Given the description of an element on the screen output the (x, y) to click on. 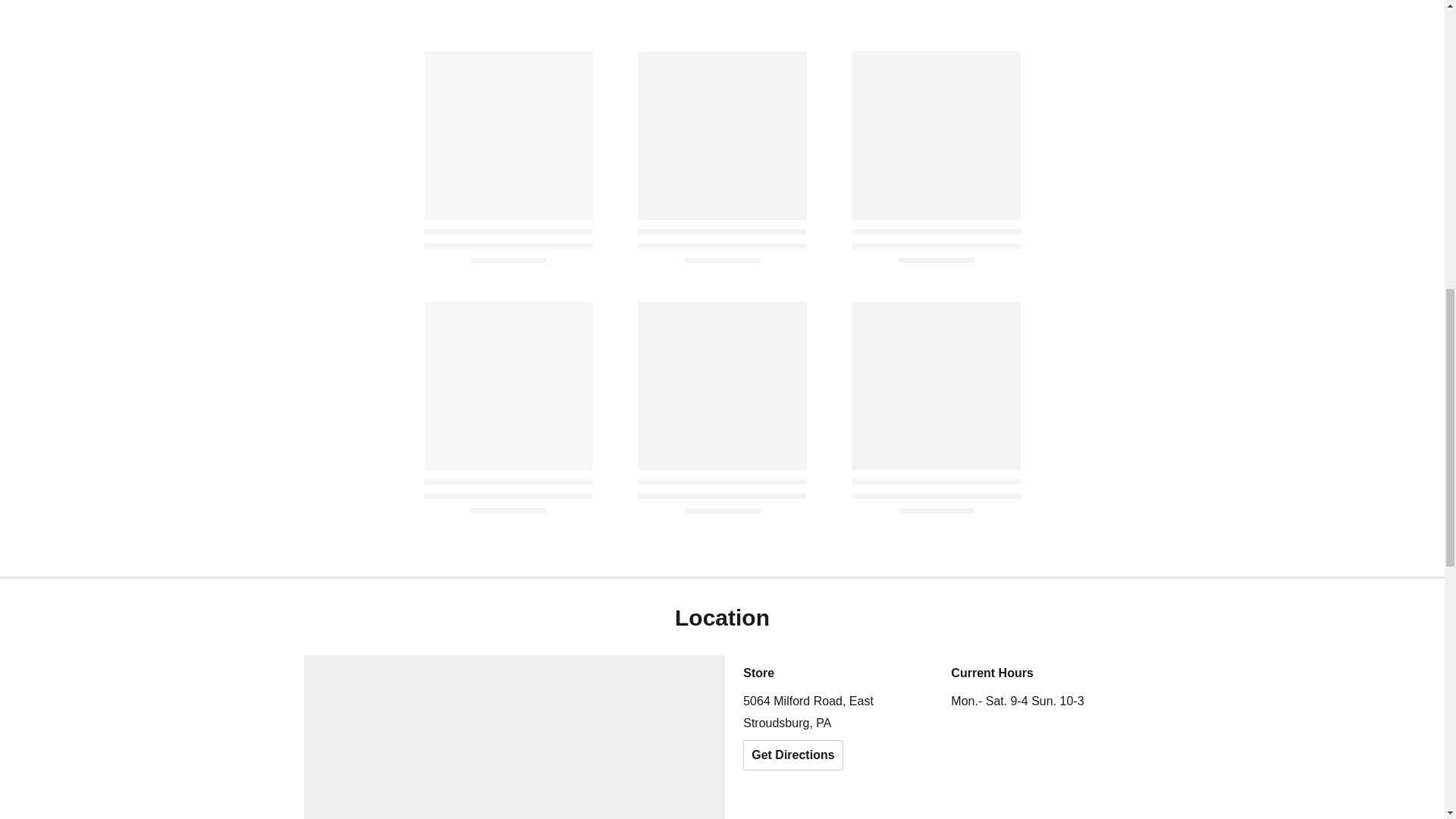
Location on map (513, 737)
Get Directions (792, 755)
